Given the description of an element on the screen output the (x, y) to click on. 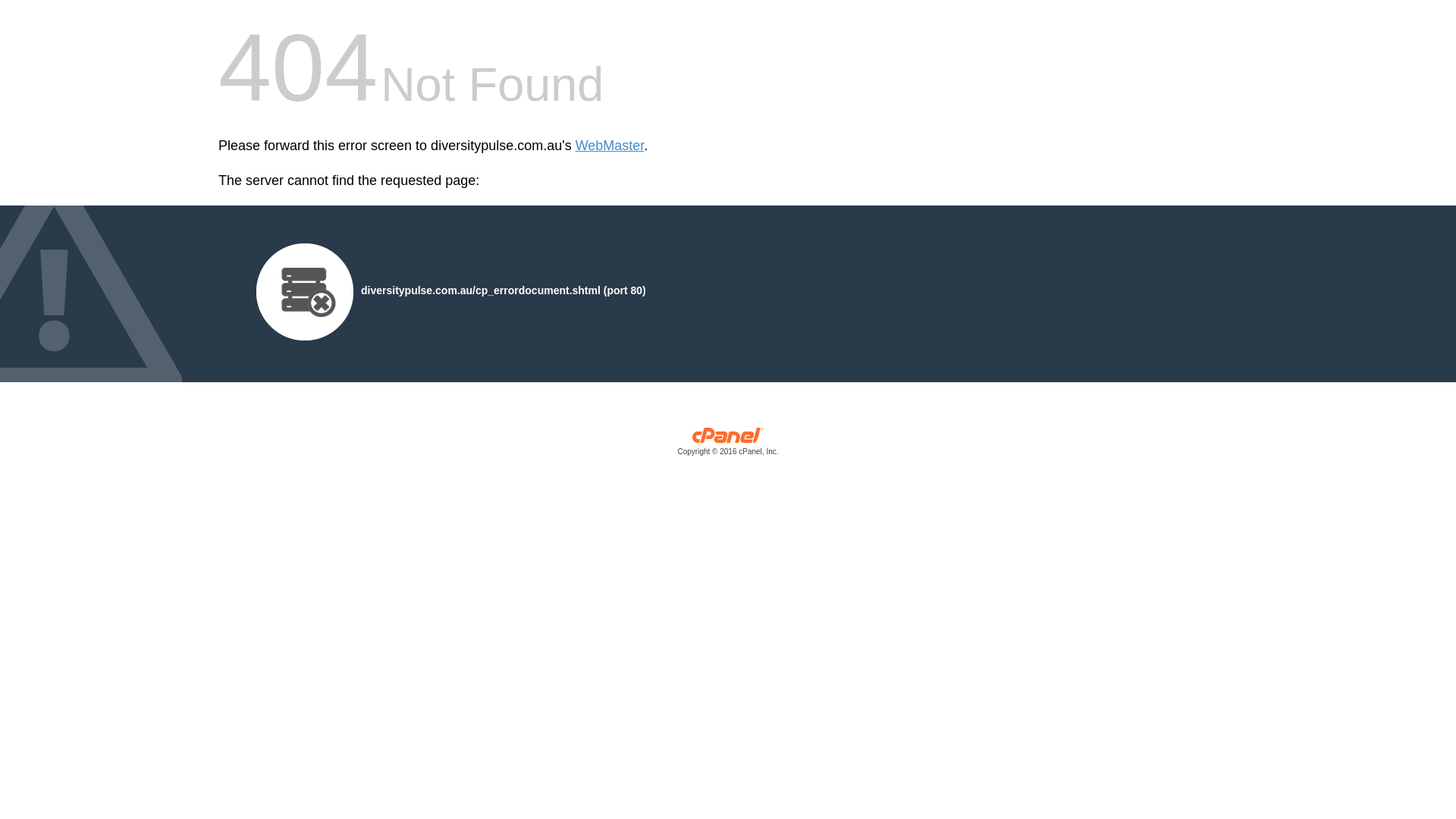
WebMaster Element type: text (609, 145)
